Given the description of an element on the screen output the (x, y) to click on. 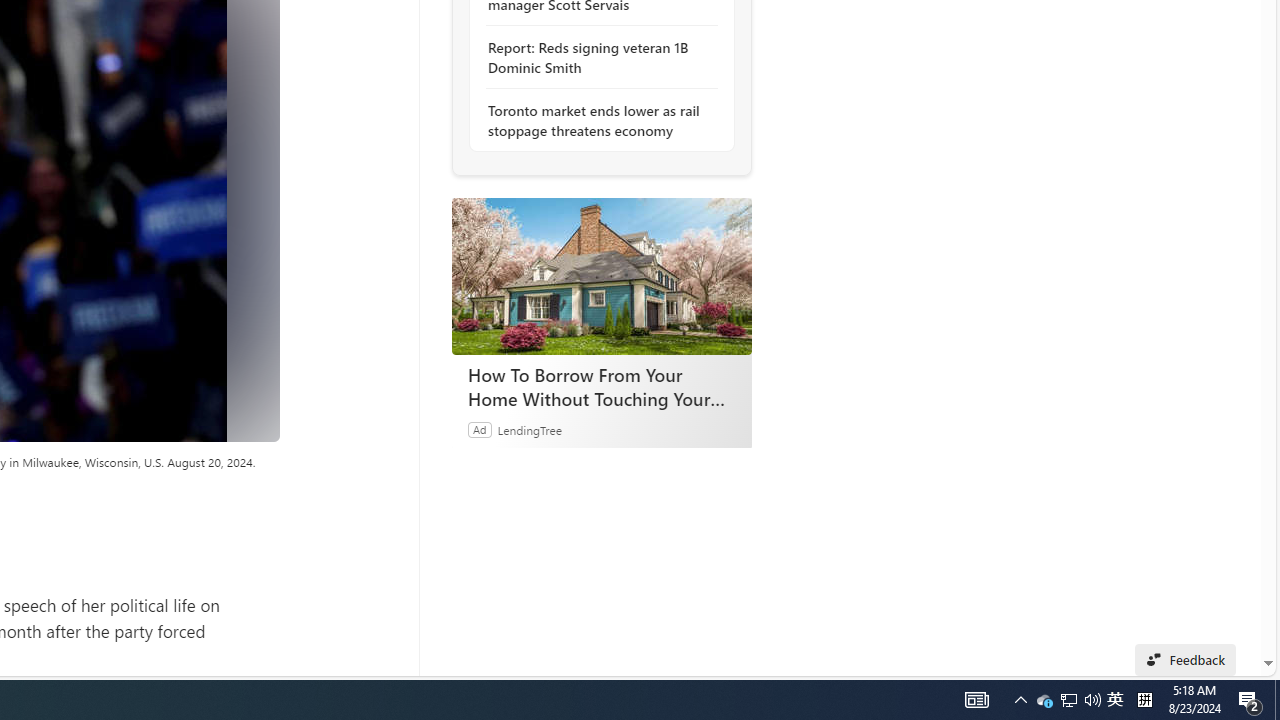
Toronto market ends lower as rail stoppage threatens economy (596, 120)
How To Borrow From Your Home Without Touching Your Mortgage (601, 276)
LendingTree (528, 429)
How To Borrow From Your Home Without Touching Your Mortgage (601, 386)
Report: Reds signing veteran 1B Dominic Smith (596, 57)
